Given the description of an element on the screen output the (x, y) to click on. 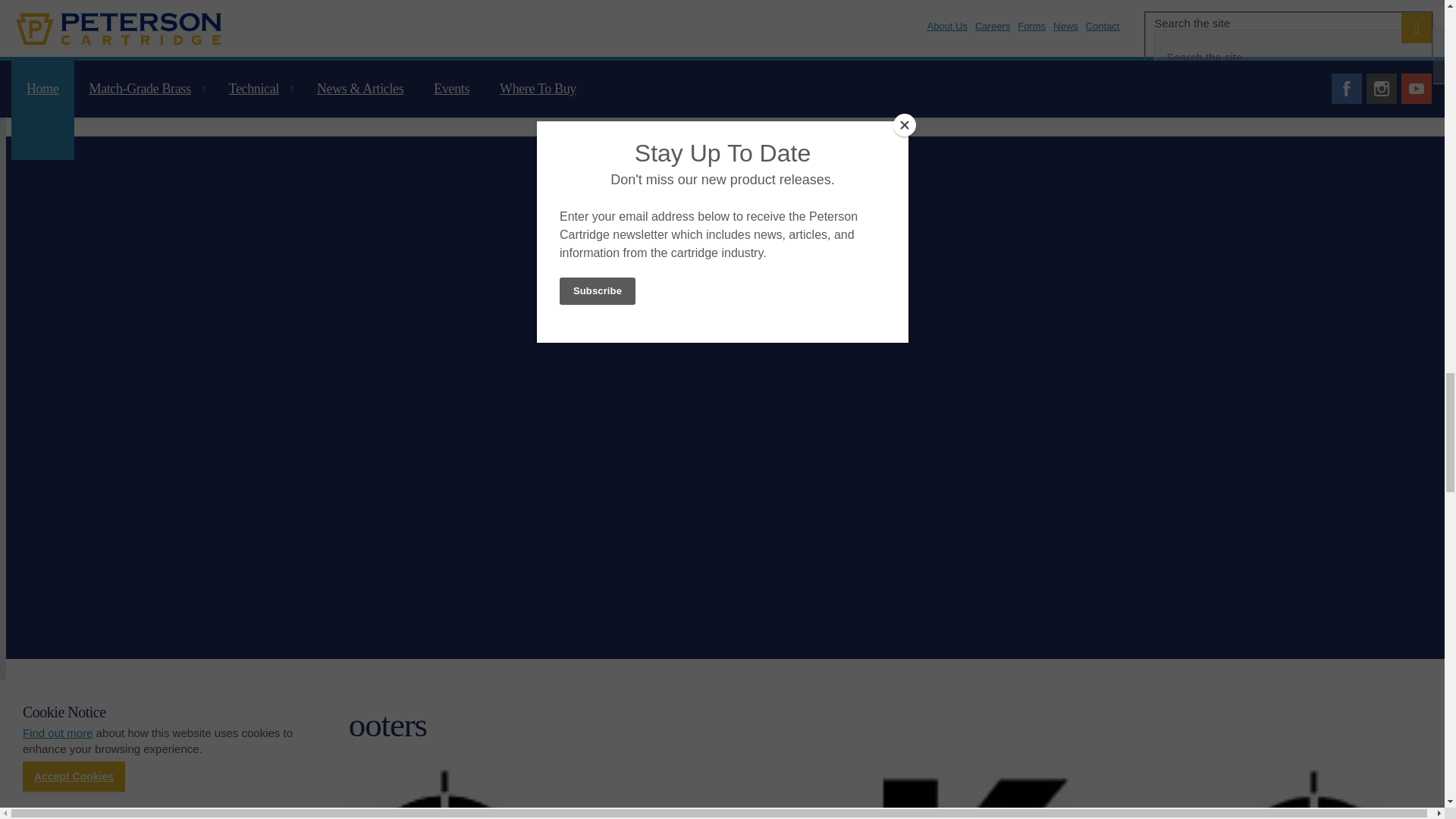
7mm PRC (98, 40)
7 PRC (98, 40)
